Given the description of an element on the screen output the (x, y) to click on. 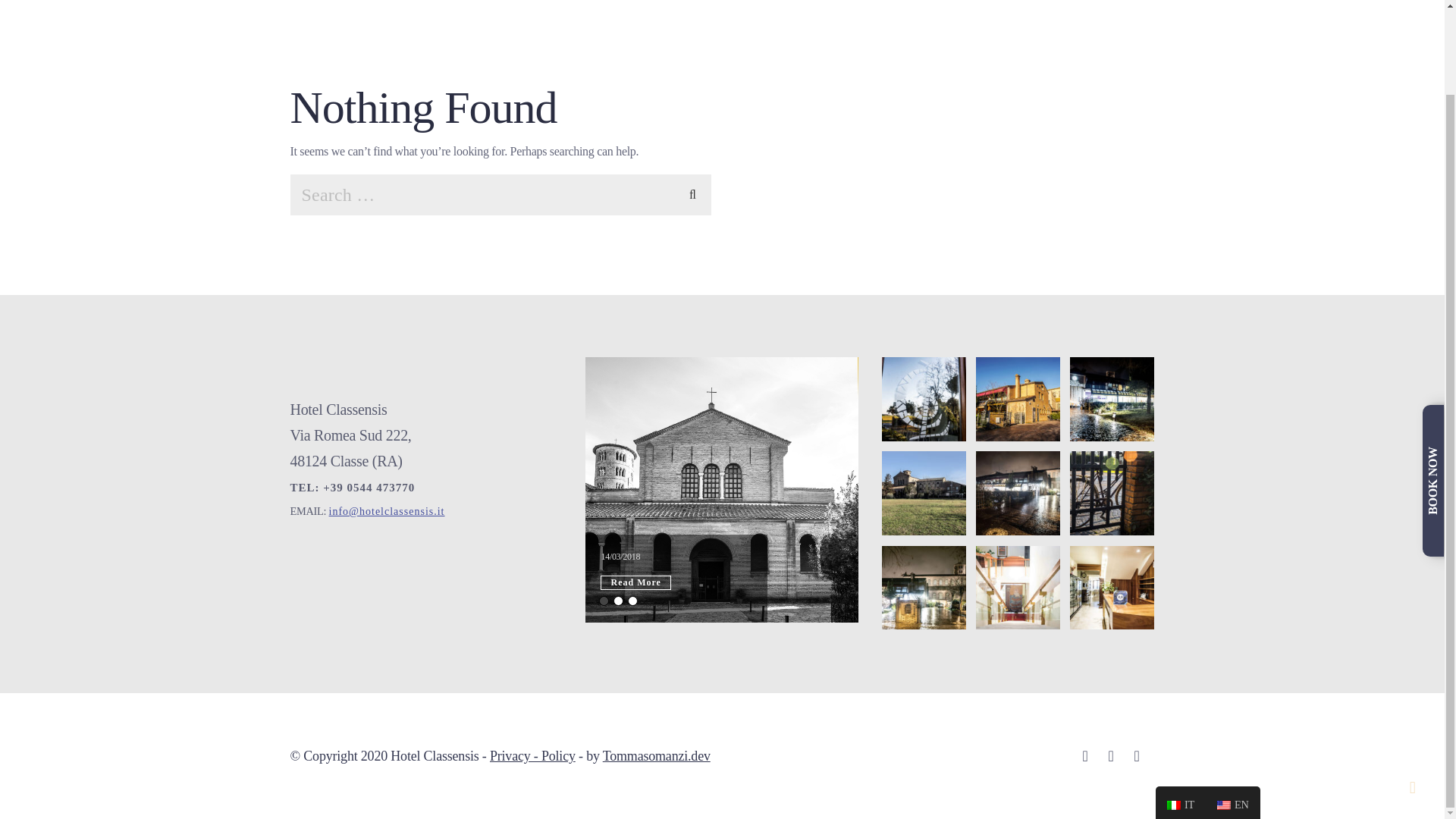
Italian (1180, 706)
English (1223, 708)
Italian (1173, 708)
Search (692, 192)
Search (692, 192)
Search (692, 192)
